Given the description of an element on the screen output the (x, y) to click on. 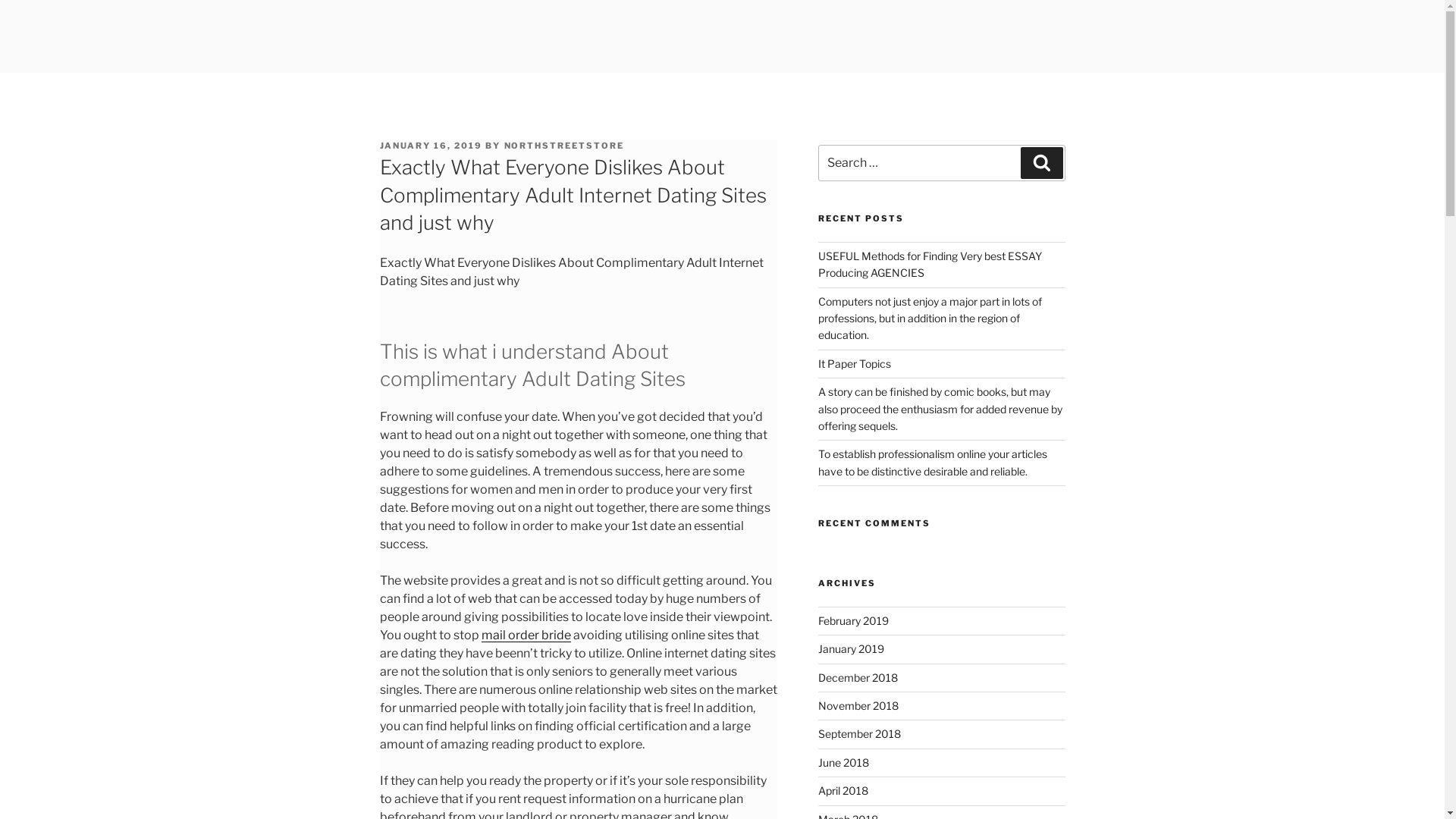
NORTH STREET STORE Element type: text (558, 52)
NORTHSTREETSTORE Element type: text (563, 145)
JANUARY 16, 2019 Element type: text (430, 145)
September 2018 Element type: text (859, 733)
It Paper Topics Element type: text (854, 363)
February 2019 Element type: text (853, 620)
April 2018 Element type: text (843, 790)
November 2018 Element type: text (858, 705)
January 2019 Element type: text (851, 648)
December 2018 Element type: text (857, 677)
June 2018 Element type: text (843, 762)
Search Element type: text (1041, 162)
mail order bride Element type: text (525, 634)
